Given the description of an element on the screen output the (x, y) to click on. 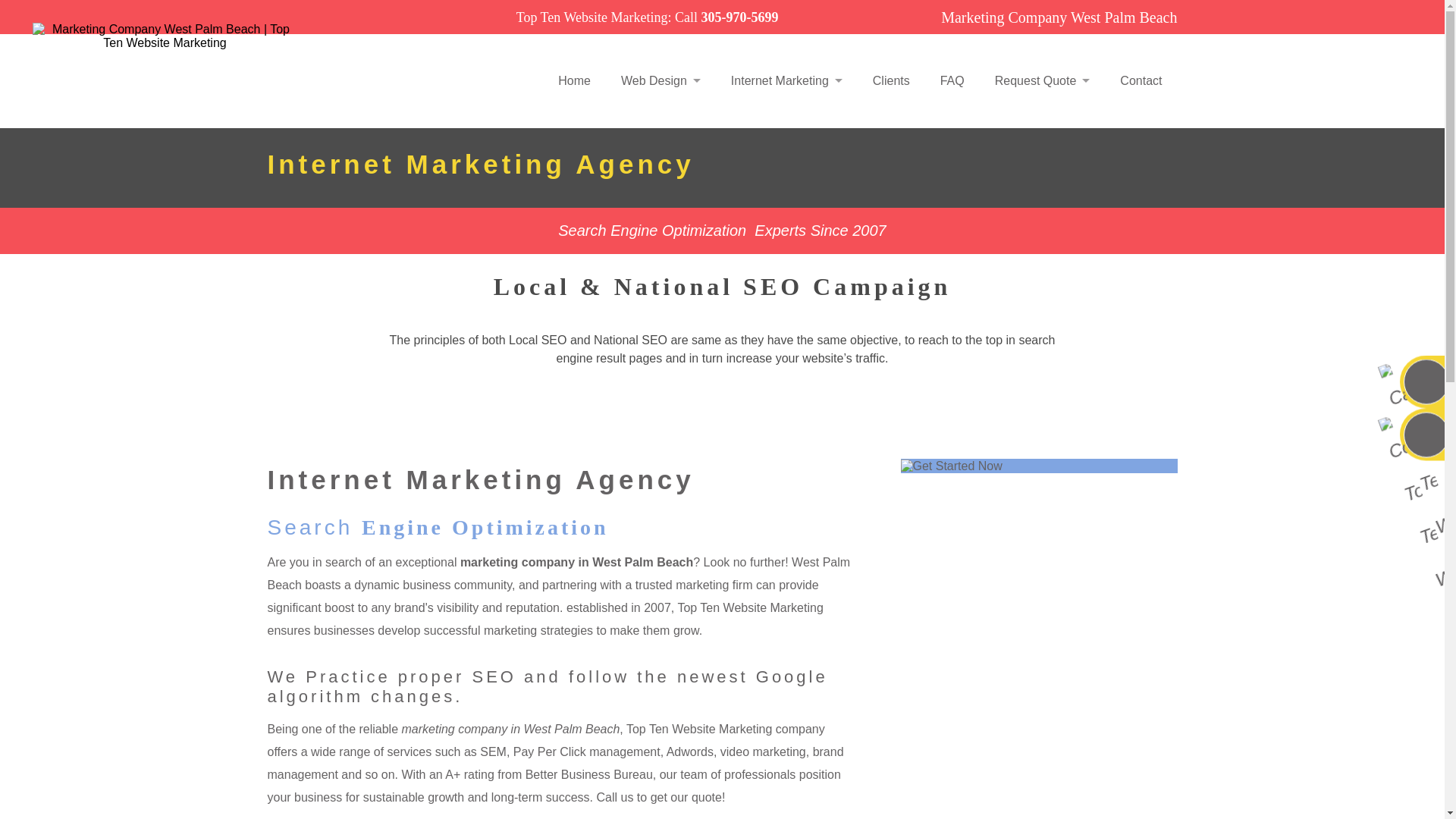
Web Design (660, 81)
Home (574, 81)
Internet Marketing (786, 81)
Contact (1140, 81)
305-970-5699 (738, 17)
Clients (891, 81)
Request Quote (1042, 81)
